Given the description of an element on the screen output the (x, y) to click on. 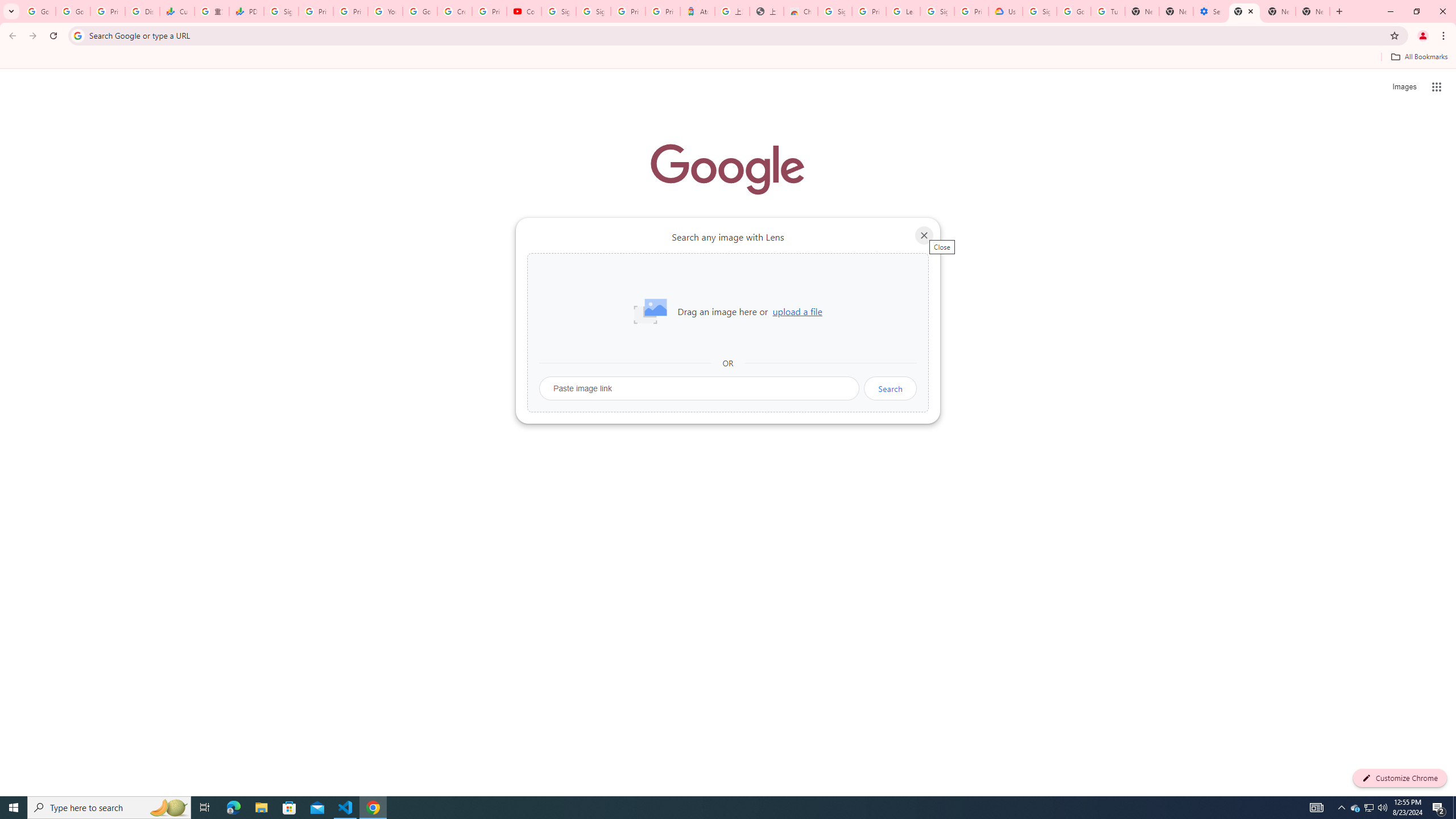
upload a file (796, 311)
Settings - System (1209, 11)
Add shortcut (727, 287)
Sign in - Google Accounts (281, 11)
Sign in - Google Accounts (557, 11)
PDD Holdings Inc - ADR (PDD) Price & News - Google Finance (246, 11)
Google Workspace Admin Community (38, 11)
Atour Hotel - Google hotels (697, 11)
Turn cookies on or off - Computer - Google Account Help (1107, 11)
